Given the description of an element on the screen output the (x, y) to click on. 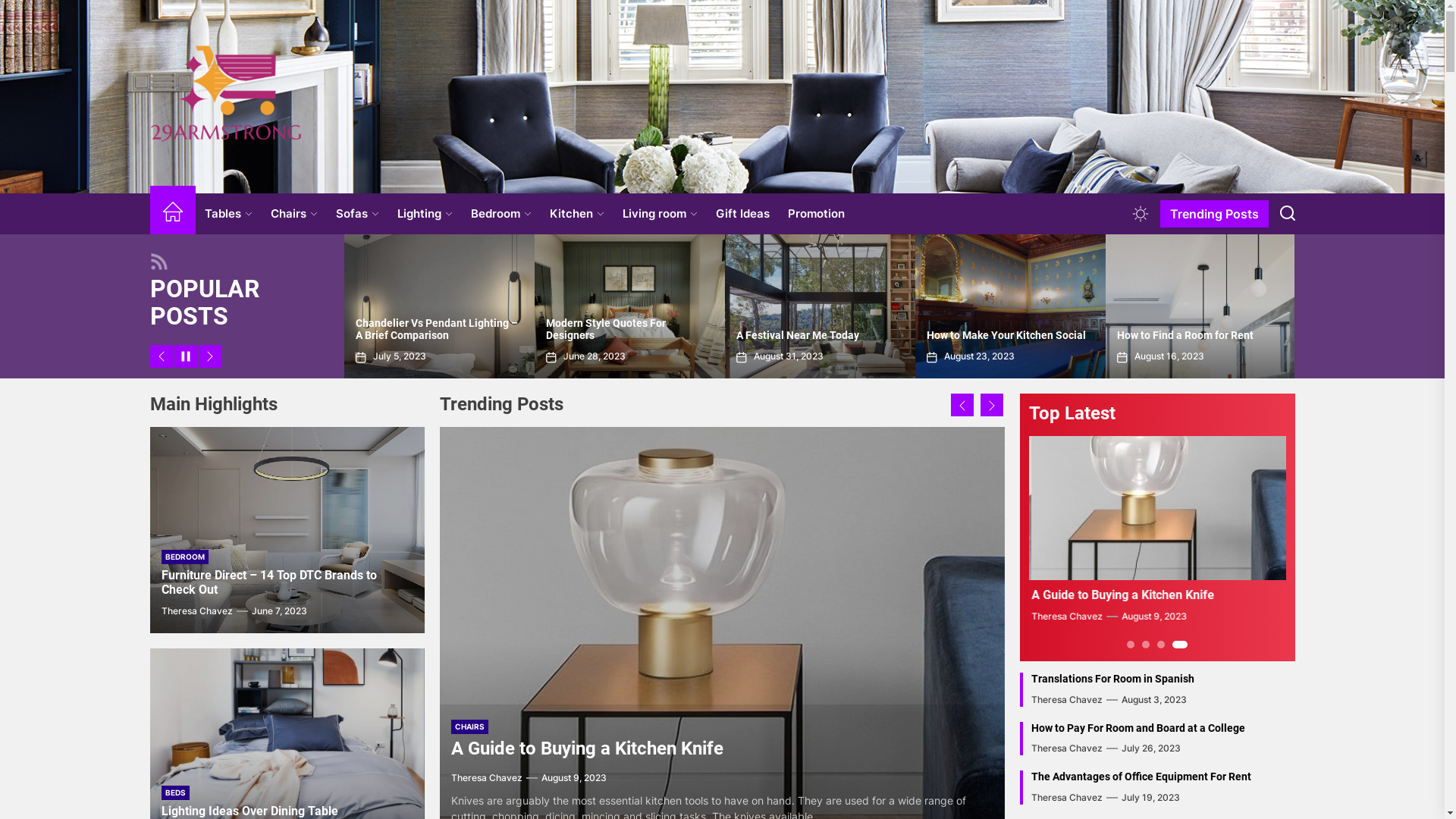
Translations For Room in Spanish Element type: text (1112, 678)
How to Pay For Room and Board at a College Element type: text (1138, 727)
Living room Element type: text (659, 214)
Promotion Element type: text (815, 214)
BEDROOM Element type: text (183, 556)
Theresa Chavez Element type: text (1066, 699)
Lighting Ideas Over Dining Table Element type: text (248, 810)
August 23, 2023 Element type: text (408, 355)
BEDS Element type: text (174, 792)
Sofas Element type: text (356, 214)
3 Element type: text (1168, 644)
2 Element type: text (1149, 644)
How to Find a Room for Rent Element type: text (569, 748)
How to Pay For Room and Board at a College Element type: text (1200, 329)
How to Make Your Kitchen Social Element type: text (434, 335)
Lighting Element type: text (424, 214)
Theresa Chavez Element type: text (1066, 747)
4 Element type: text (1183, 644)
Translations For Room in Spanish Element type: text (1007, 335)
August 16, 2023 Element type: text (598, 355)
The Advantages of Office Equipment For Rent Element type: text (1141, 776)
August 23, 2023 Element type: text (1157, 615)
Theresa Chavez Element type: text (1068, 615)
1 Element type: text (1130, 644)
July 26, 2023 Element type: text (1163, 355)
August 3, 2023 Element type: text (1153, 699)
Trending Posts Element type: text (1214, 213)
Theresa Chavez Element type: text (196, 610)
August 3, 2023 Element type: text (976, 355)
Gift Ideas Element type: text (742, 214)
Bedroom Element type: text (500, 214)
How to Make Your Kitchen Social Element type: text (1125, 594)
Tables Element type: text (228, 214)
July 19, 2023 Element type: text (1150, 797)
June 7, 2023 Element type: text (279, 610)
Theresa Chavez Element type: text (1066, 797)
A Guide to Buying a Kitchen Knife Element type: text (816, 335)
August 16, 2023 Element type: text (576, 777)
Chairs Element type: text (293, 214)
July 26, 2023 Element type: text (1150, 747)
Kitchen Element type: text (575, 214)
August 9, 2023 Element type: text (786, 355)
How to Find a Room for Rent Element type: text (614, 335)
Theresa Chavez Element type: text (486, 777)
LIGHTING Element type: text (473, 726)
Home Element type: hover (172, 214)
